Given the description of an element on the screen output the (x, y) to click on. 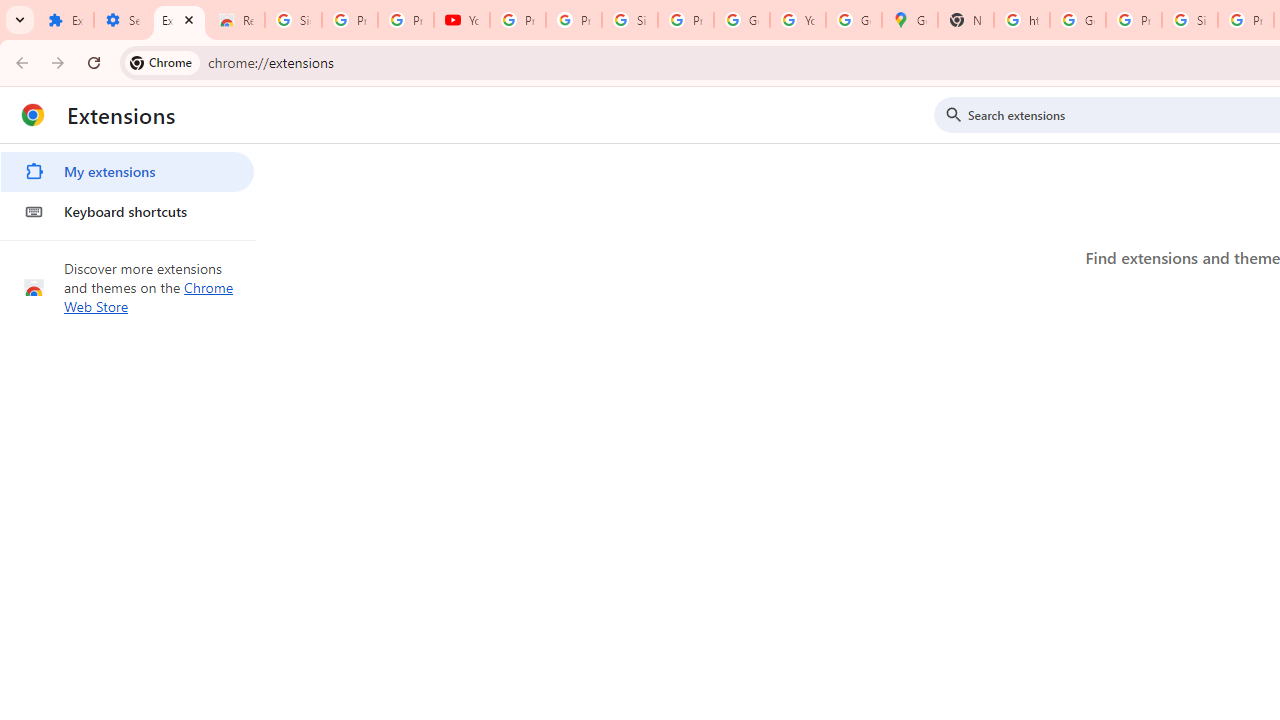
Reviews: Helix Fruit Jump Arcade Game (235, 20)
My extensions (127, 171)
